Given the description of an element on the screen output the (x, y) to click on. 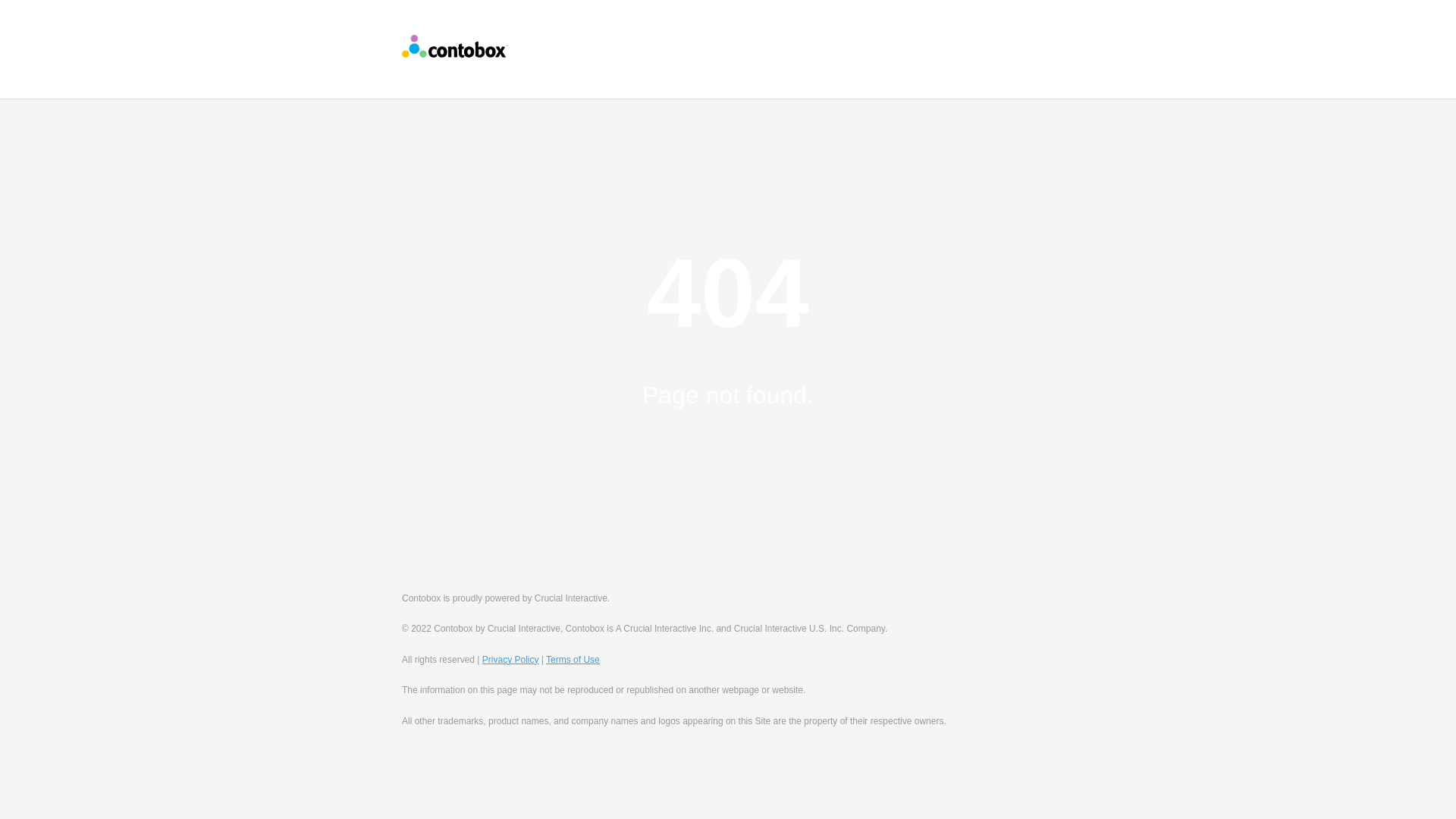
Terms of Use (572, 659)
REPORTER (715, 62)
Privacy Policy (509, 659)
EDUCATION (555, 35)
CAMPAIGN FEED (926, 35)
PLANNER (823, 35)
DESIGN (641, 35)
DASHBOARD (729, 35)
